Given the description of an element on the screen output the (x, y) to click on. 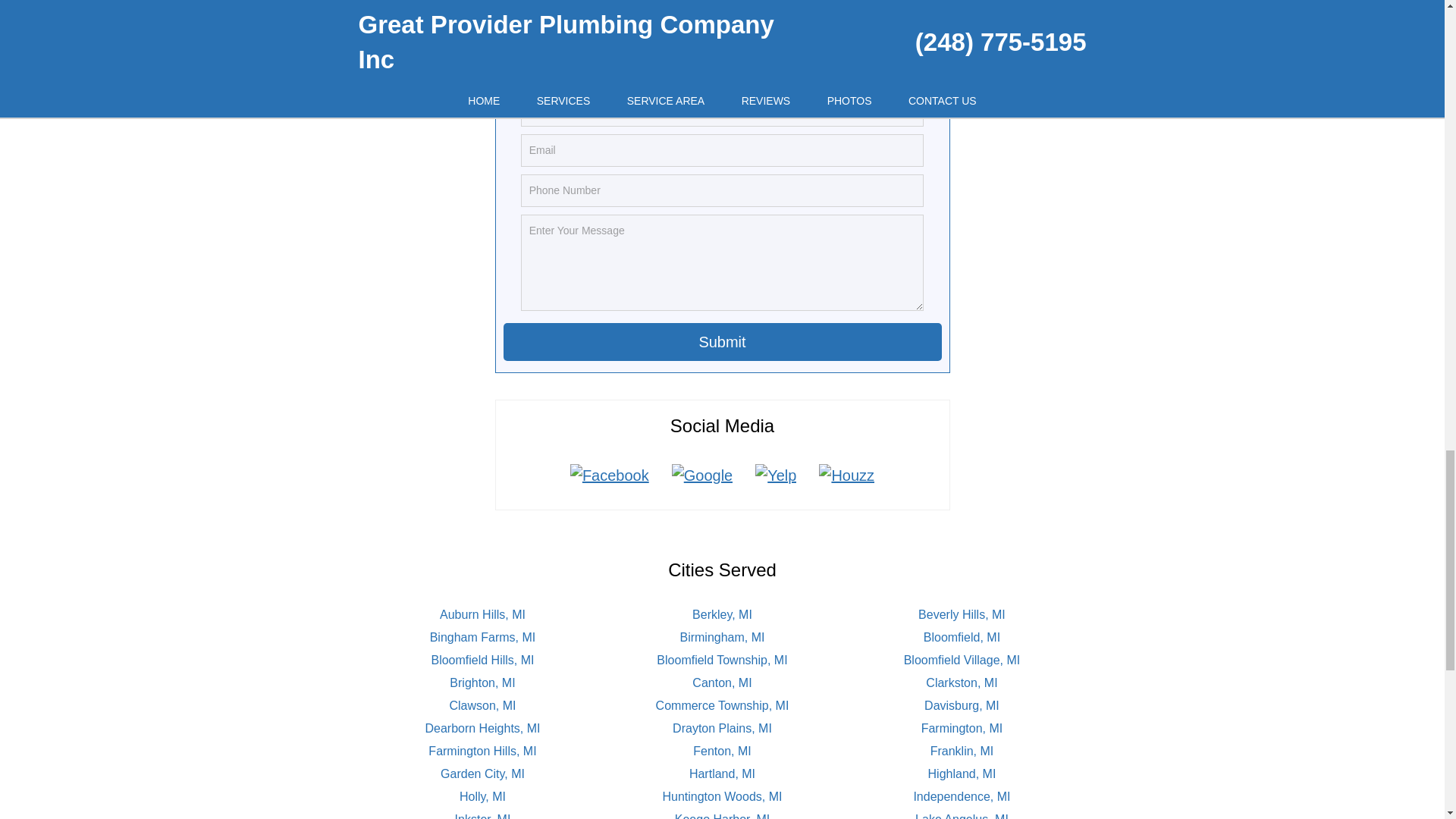
Submit (722, 341)
Google (702, 475)
Houzz (846, 475)
Facebook (610, 475)
Yelp (776, 475)
